Given the description of an element on the screen output the (x, y) to click on. 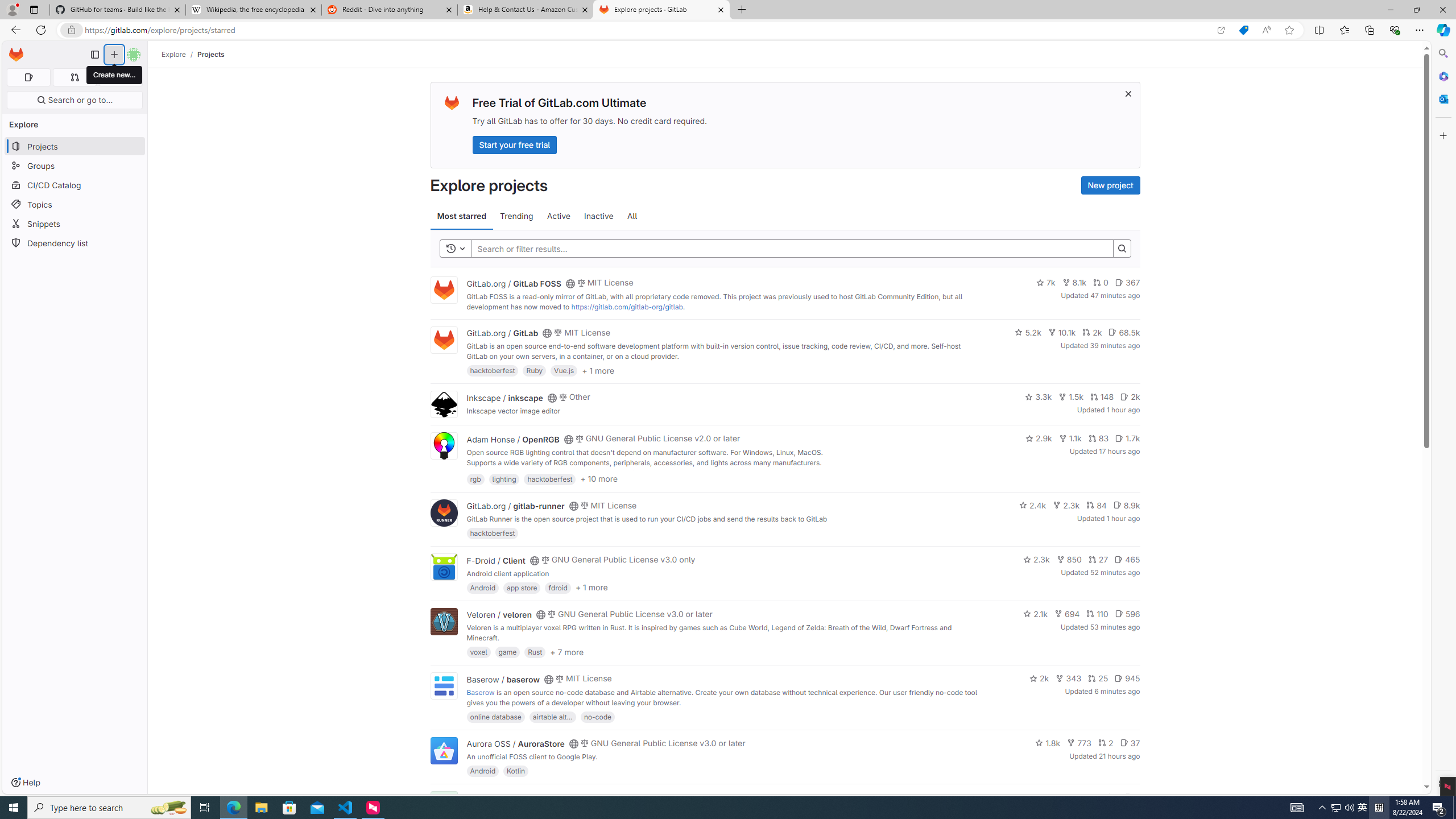
hacktoberfest (492, 533)
